Given the description of an element on the screen output the (x, y) to click on. 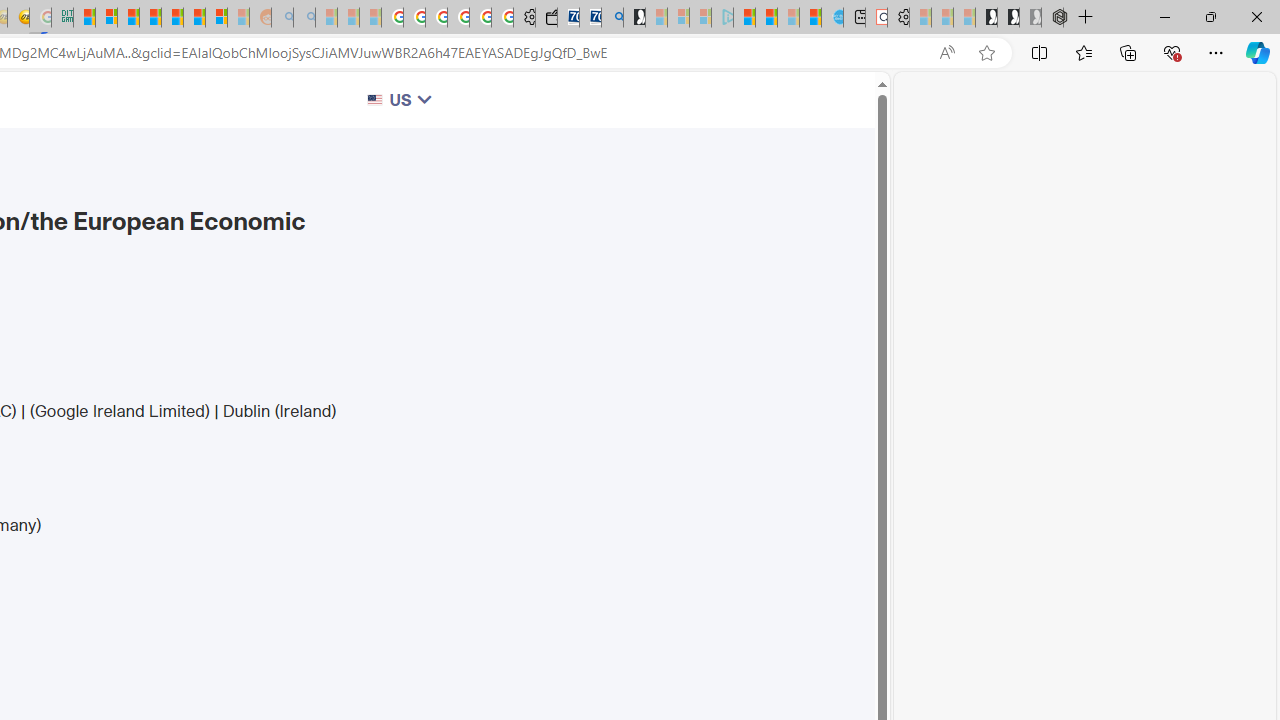
Class: w-full h-auto rounded-sm border border-gray-200 (375, 99)
